Given the description of an element on the screen output the (x, y) to click on. 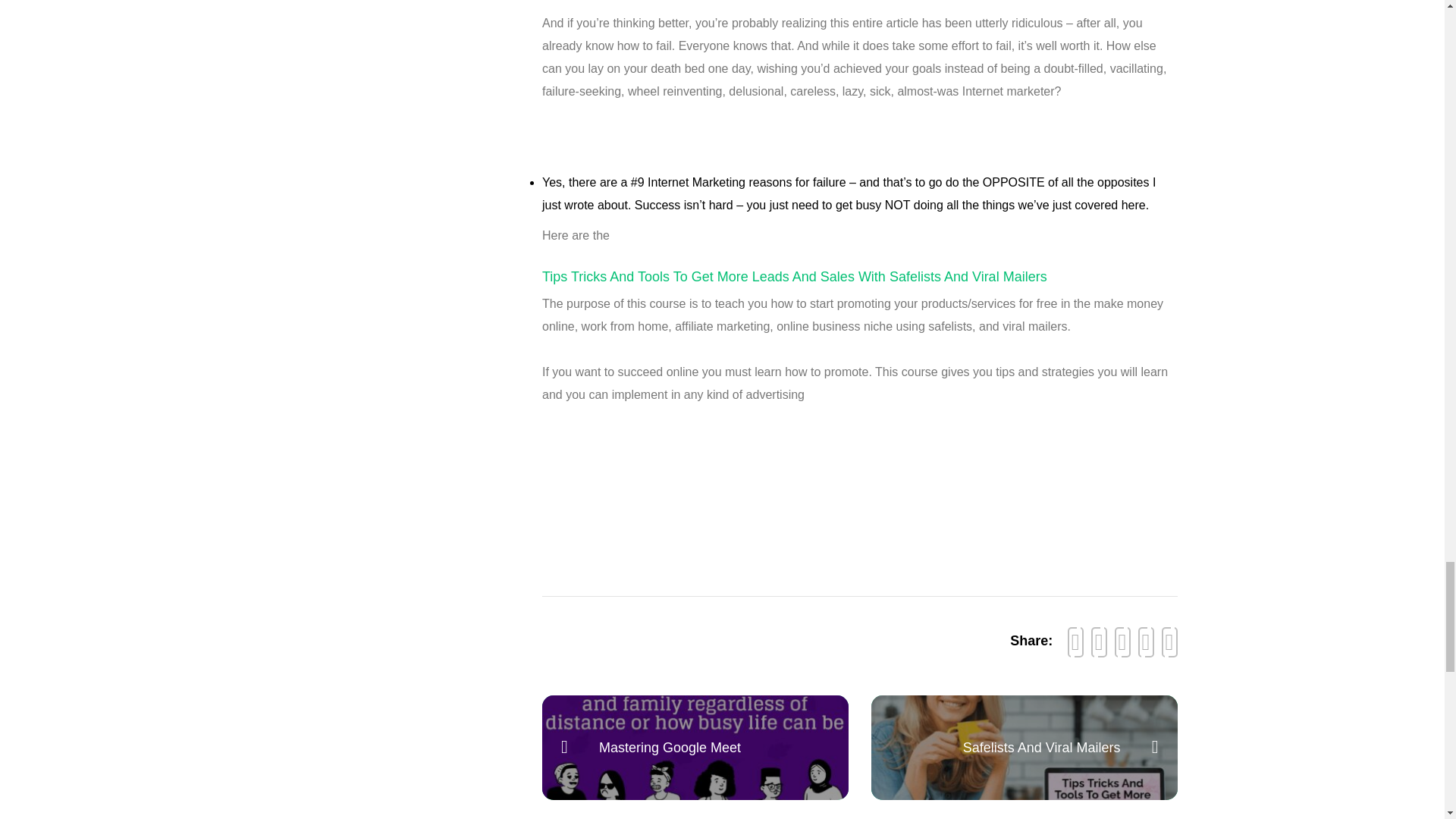
Safelists And Viral Mailers (1041, 747)
Mastering Google Meet (669, 747)
